Given the description of an element on the screen output the (x, y) to click on. 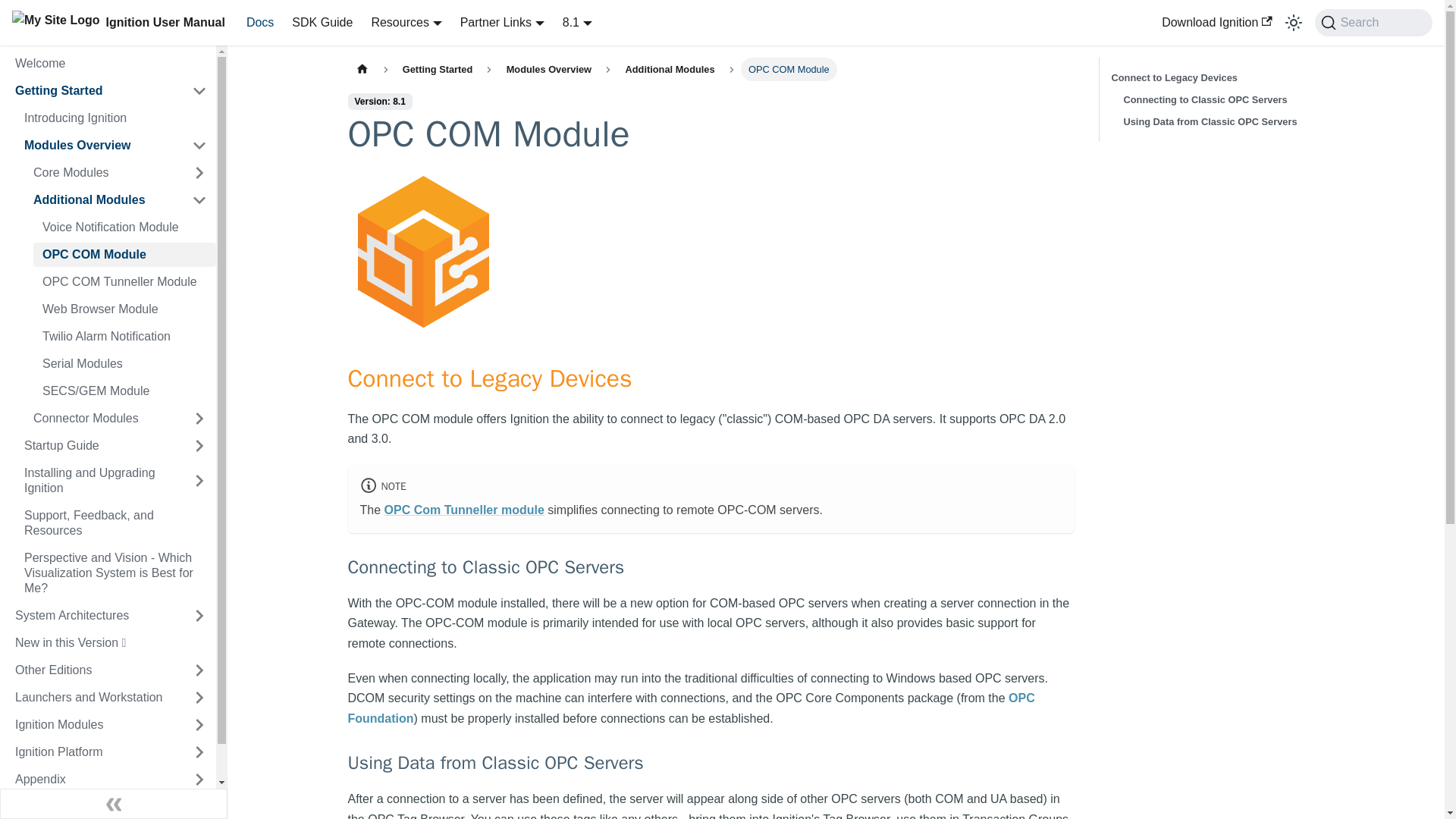
Voice Notification Module (124, 227)
Search (1373, 22)
Ignition User Manual (118, 22)
Twilio Alarm Notification (124, 336)
Getting Started (94, 90)
Additional Modules (103, 200)
OPC COM Module (124, 254)
OPC COM Tunneller Module (124, 282)
Introducing Ignition (114, 118)
